Given the description of an element on the screen output the (x, y) to click on. 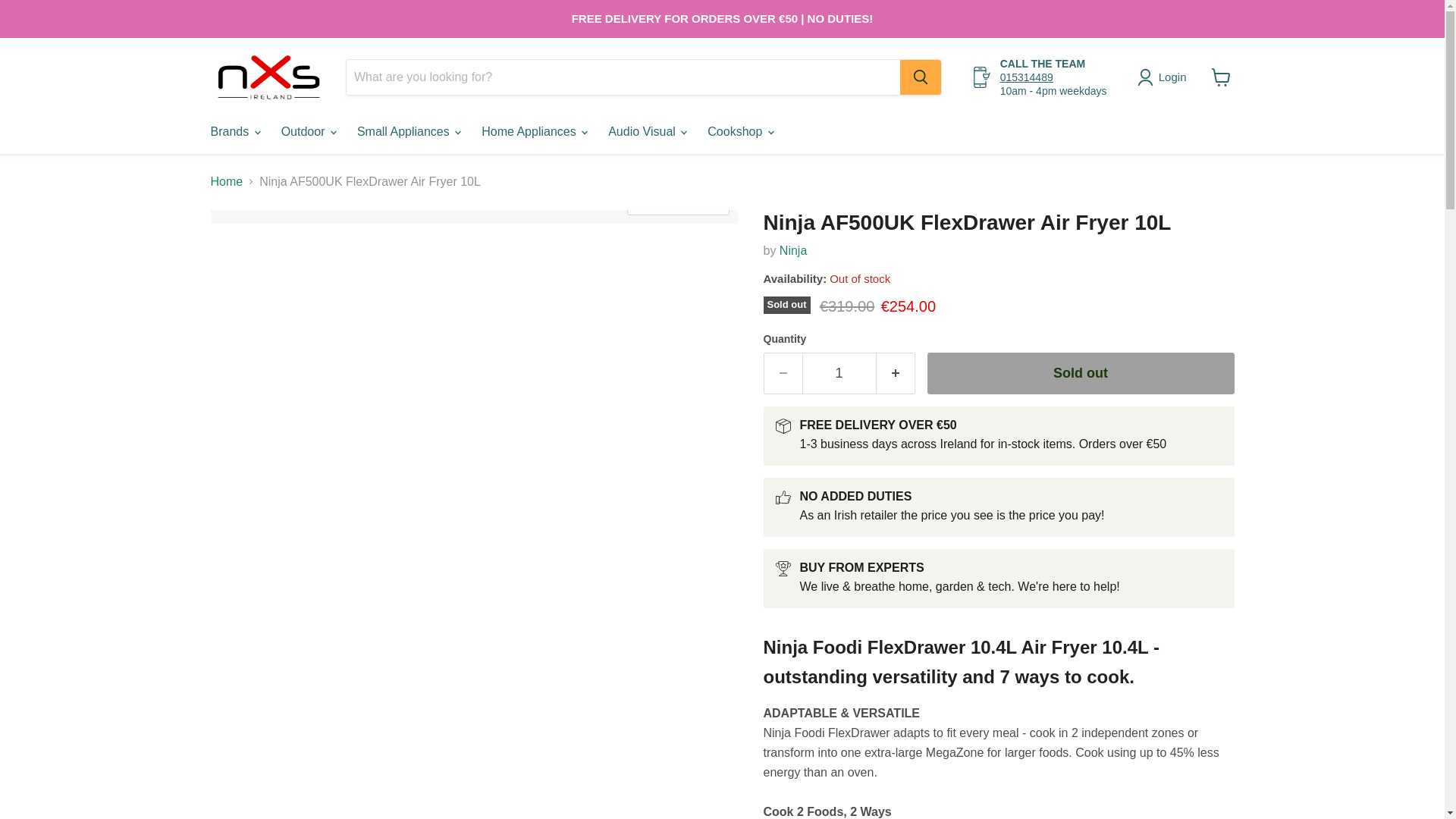
Login (1164, 76)
tel:015314489 (1026, 77)
Ninja (792, 250)
1 (839, 372)
View cart (1221, 77)
015314489 (1026, 77)
